Given the description of an element on the screen output the (x, y) to click on. 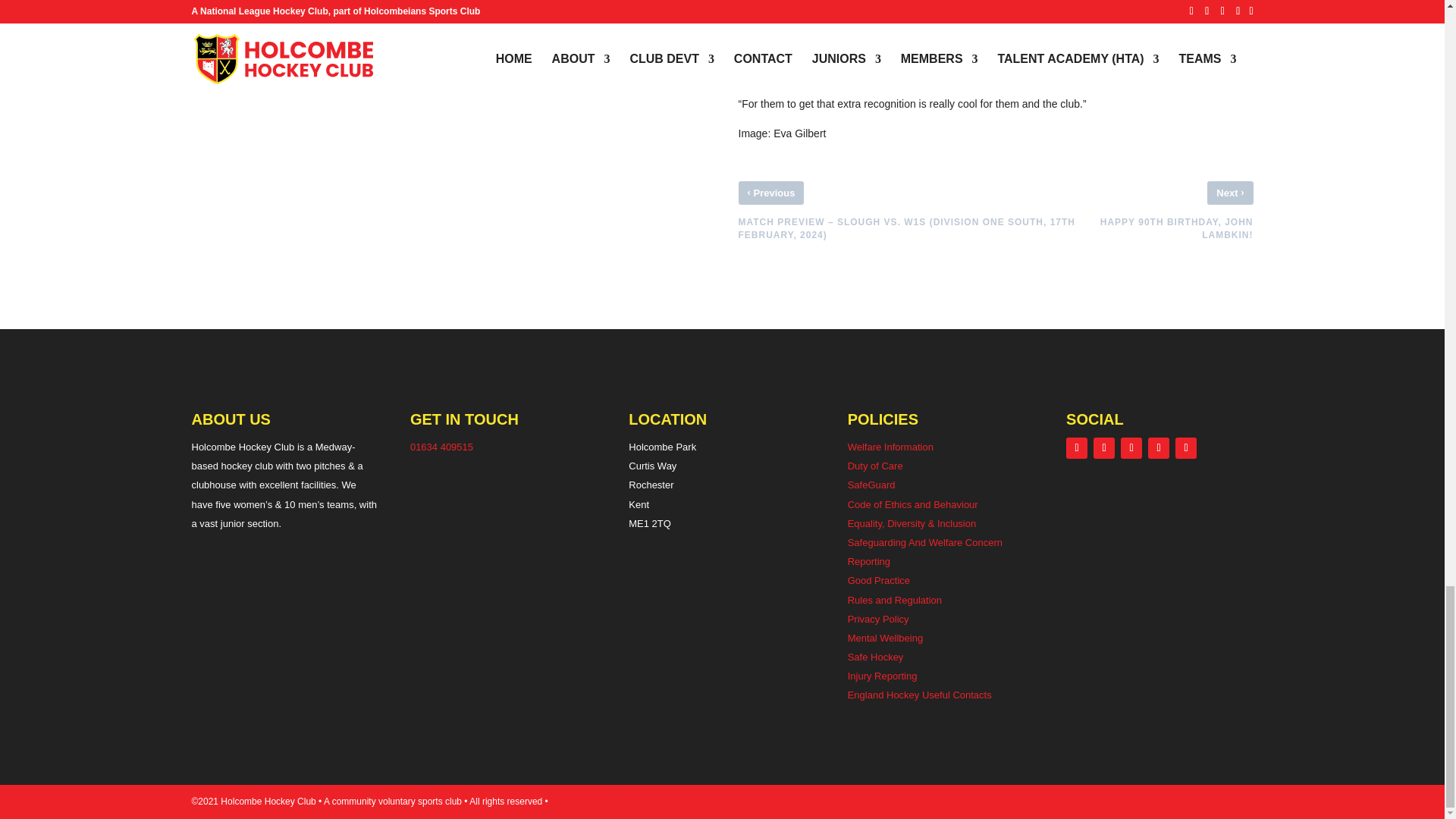
Follow on TikTok (1185, 447)
Follow on Instagram (1104, 447)
Follow on Youtube (1158, 447)
Follow on Facebook (1076, 447)
Follow on X (1131, 447)
